Given the description of an element on the screen output the (x, y) to click on. 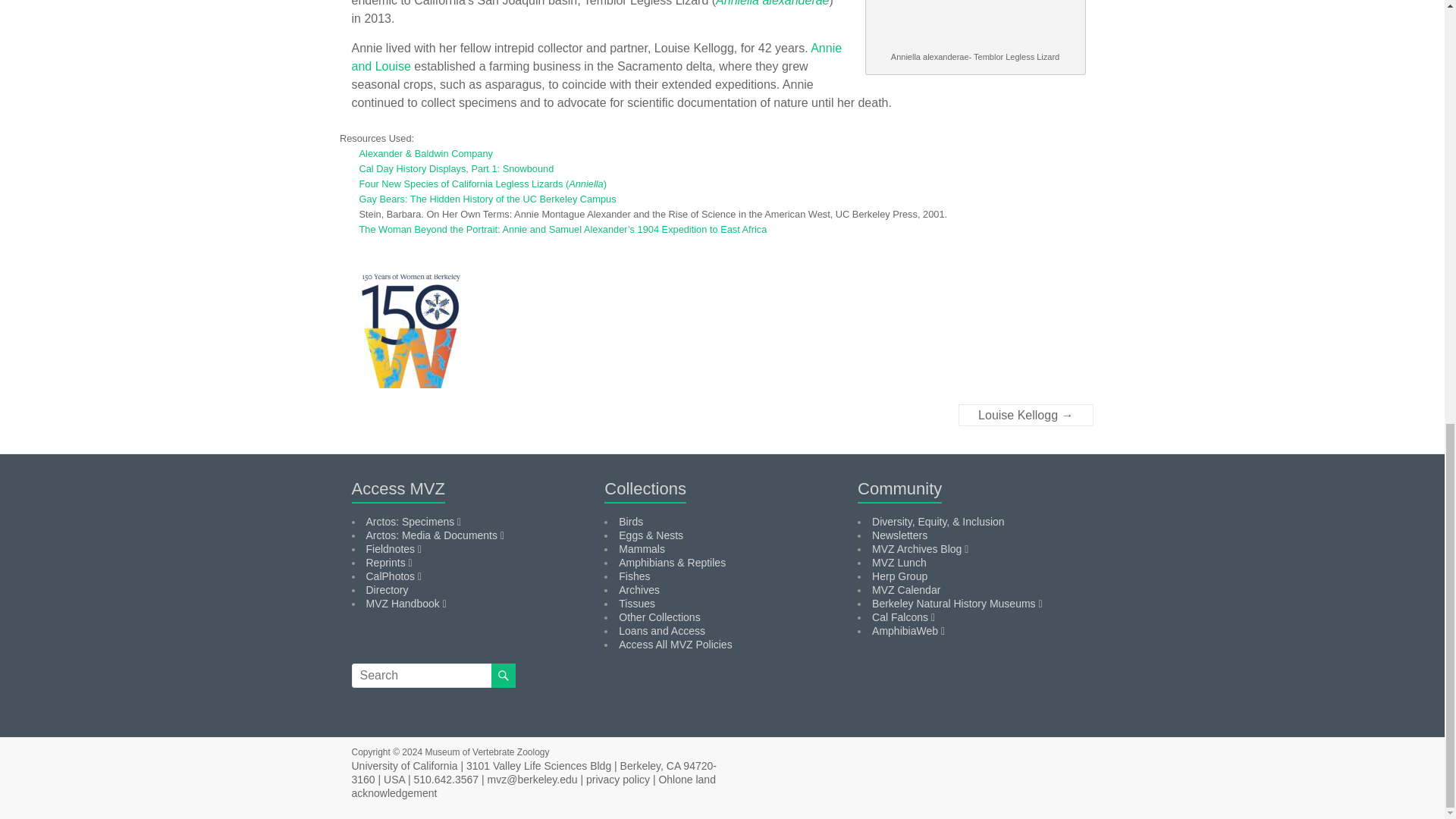
Museum of Vertebrate Zoology (486, 751)
